Given the description of an element on the screen output the (x, y) to click on. 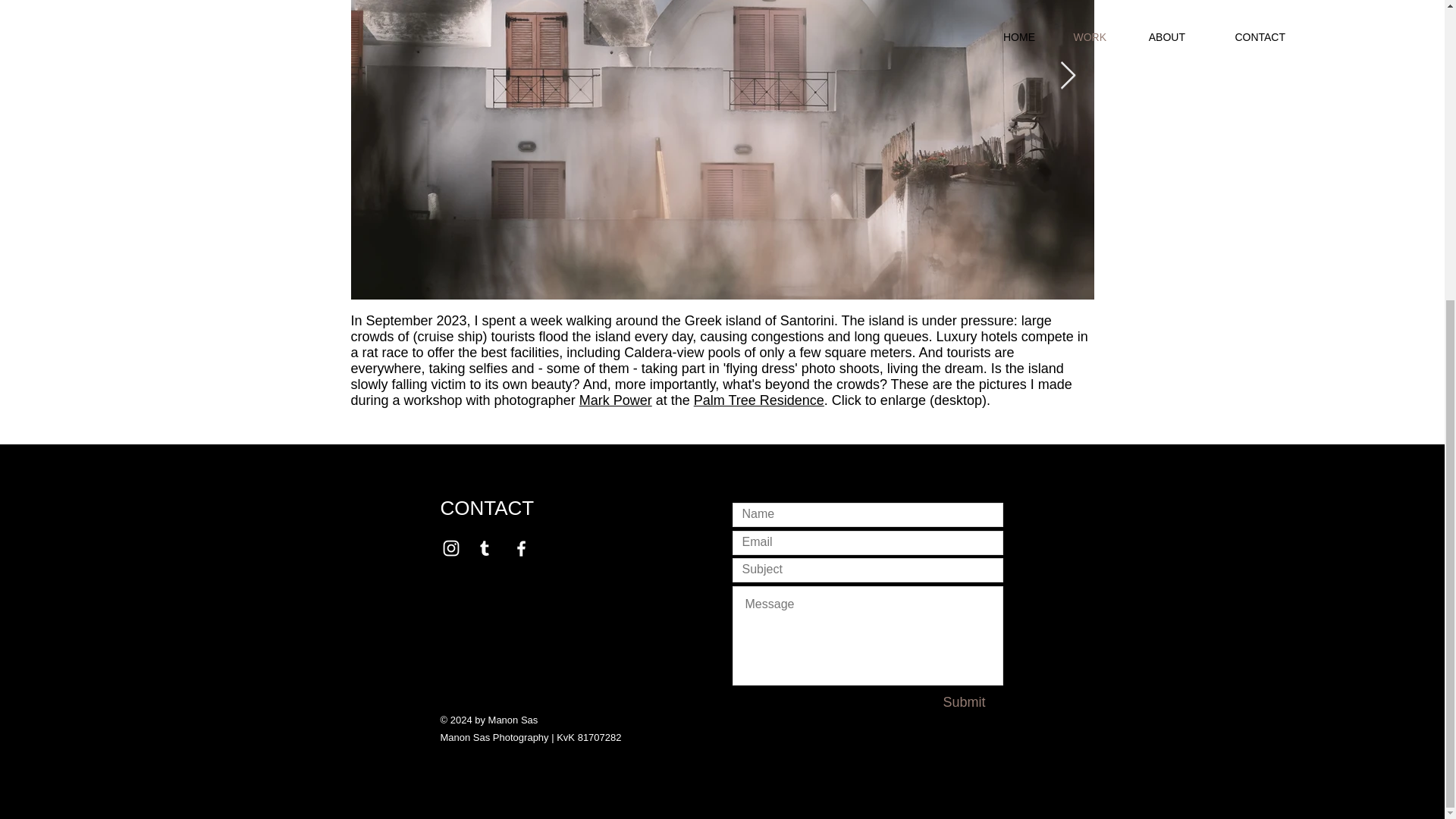
Mark Power (615, 400)
Submit (963, 702)
Palm Tree Residence (759, 400)
